Given the description of an element on the screen output the (x, y) to click on. 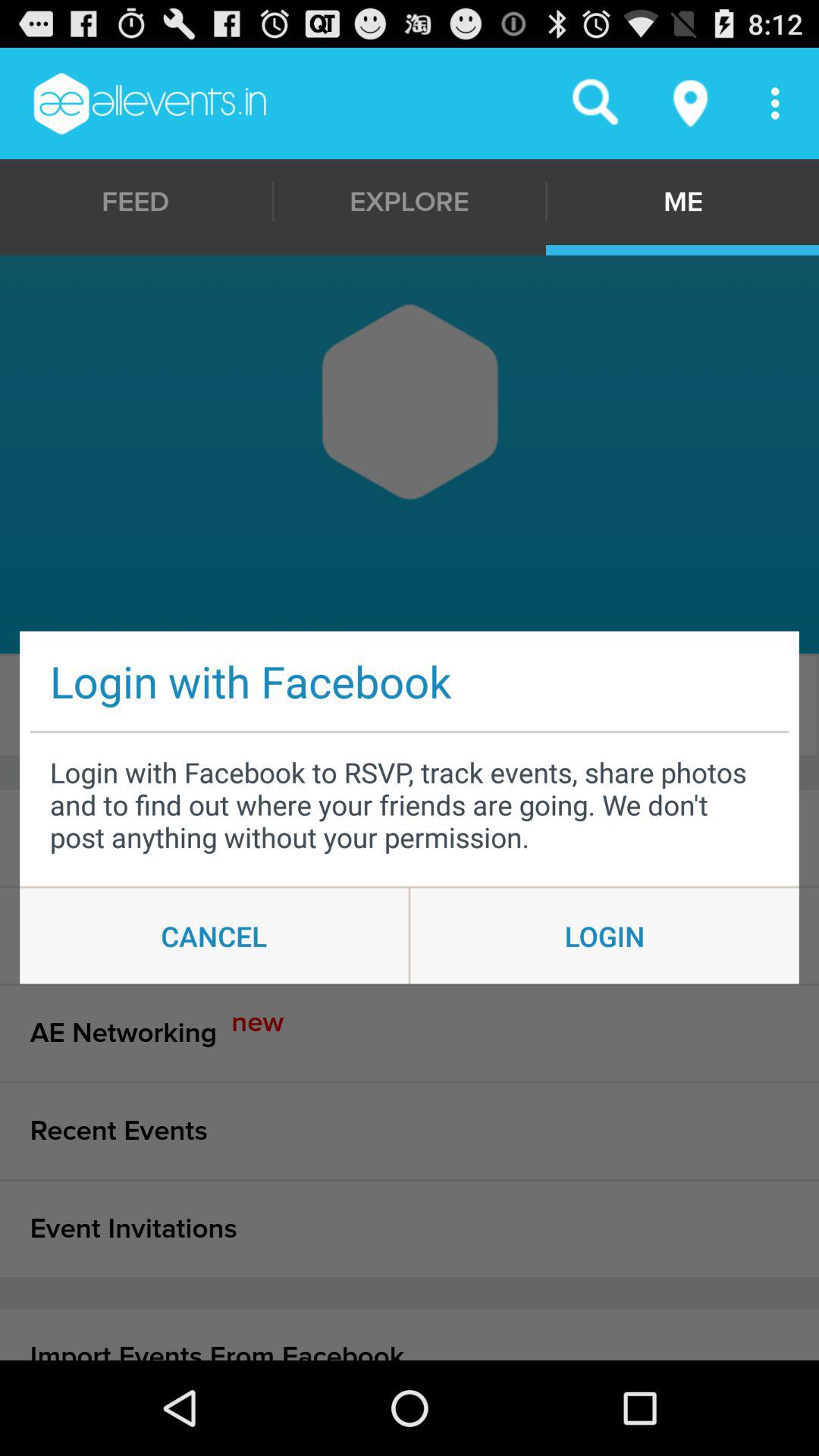
turn off the import events from (409, 1334)
